Given the description of an element on the screen output the (x, y) to click on. 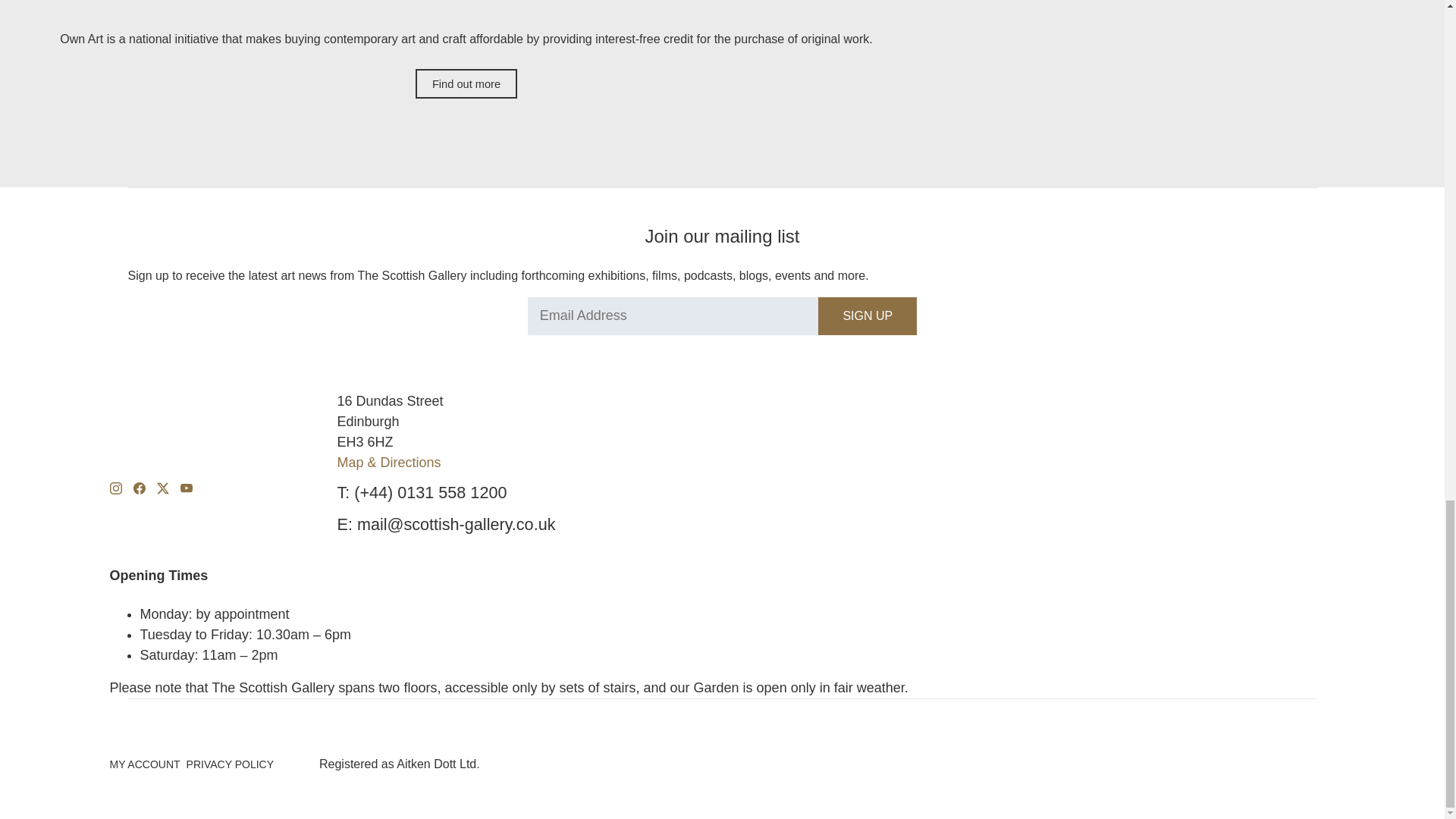
MY ACCOUNT (144, 764)
SIGN UP (867, 315)
Find out more (465, 83)
